Given the description of an element on the screen output the (x, y) to click on. 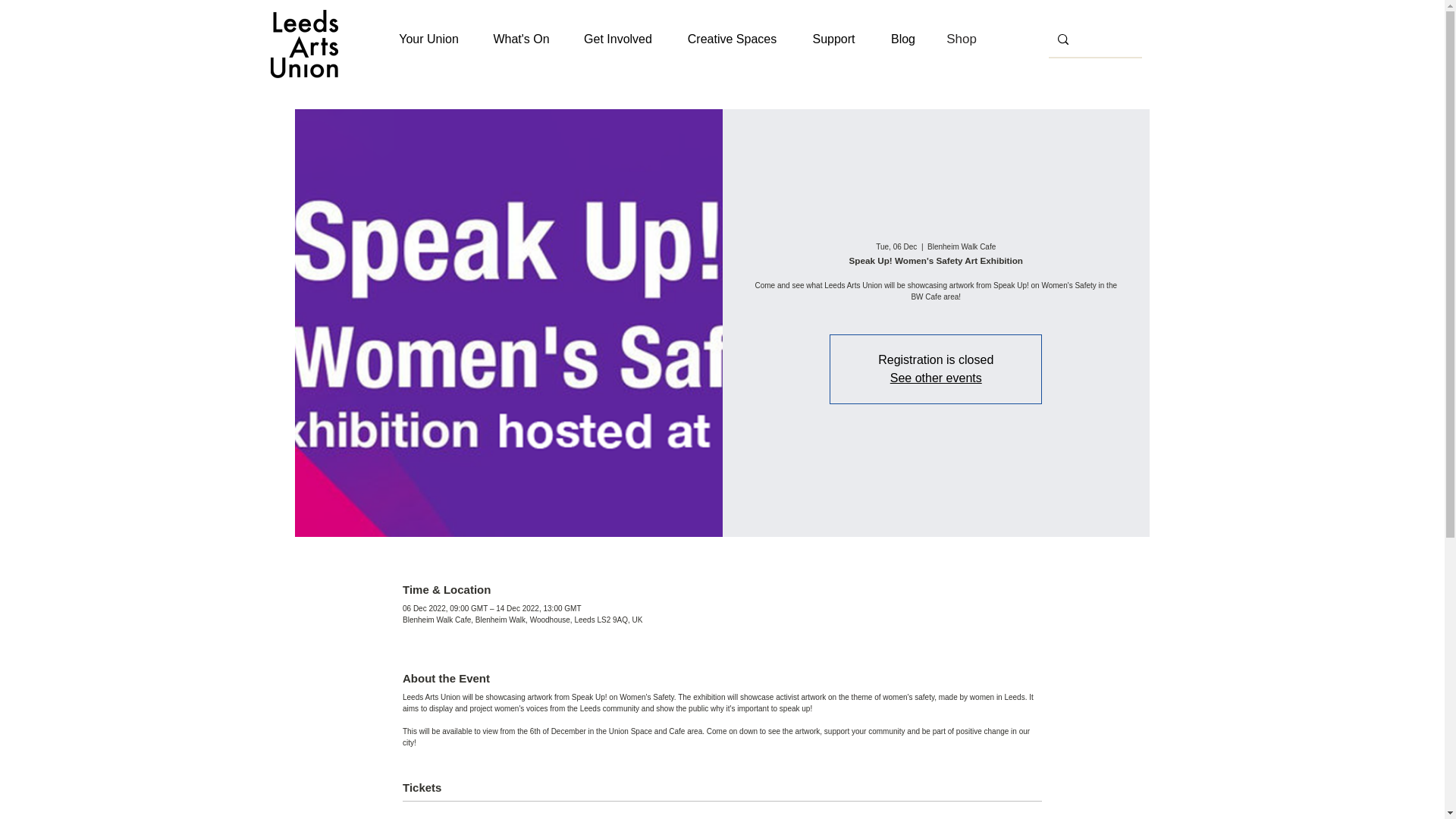
See other events (935, 377)
What's On (521, 39)
Creative Spaces (731, 39)
Get Involved (617, 39)
Support (833, 39)
Blog (903, 39)
Your Union (428, 39)
Shop (961, 38)
